Given the description of an element on the screen output the (x, y) to click on. 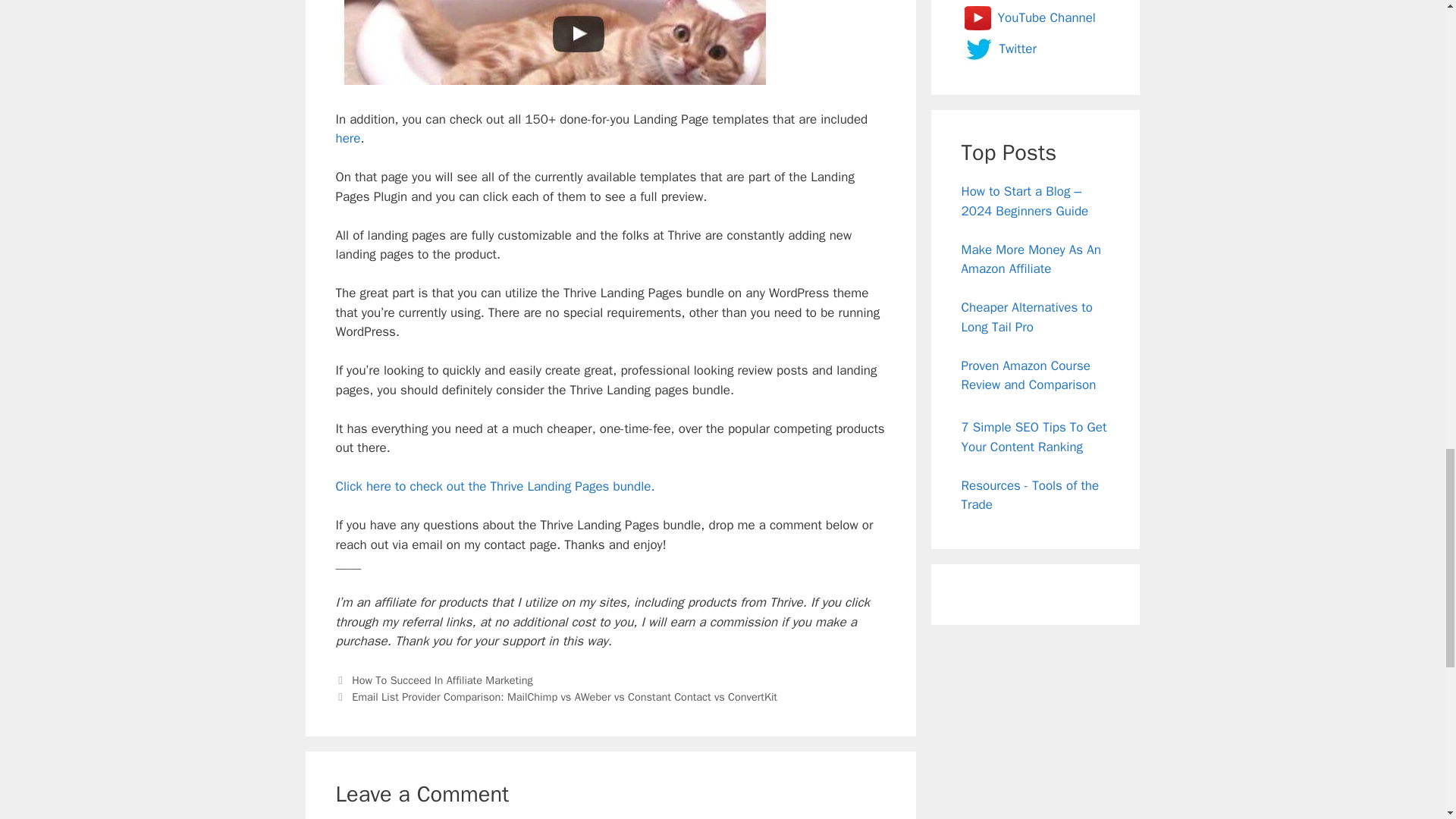
Click here to check out the Thrive Landing Pages bundle. (493, 486)
How To Succeed In Affiliate Marketing (442, 680)
Proven Amazon Course Review and Comparison (1028, 375)
Resources - Tools of the Trade (1029, 495)
7 Simple SEO Tips (1033, 437)
here (346, 138)
